Given the description of an element on the screen output the (x, y) to click on. 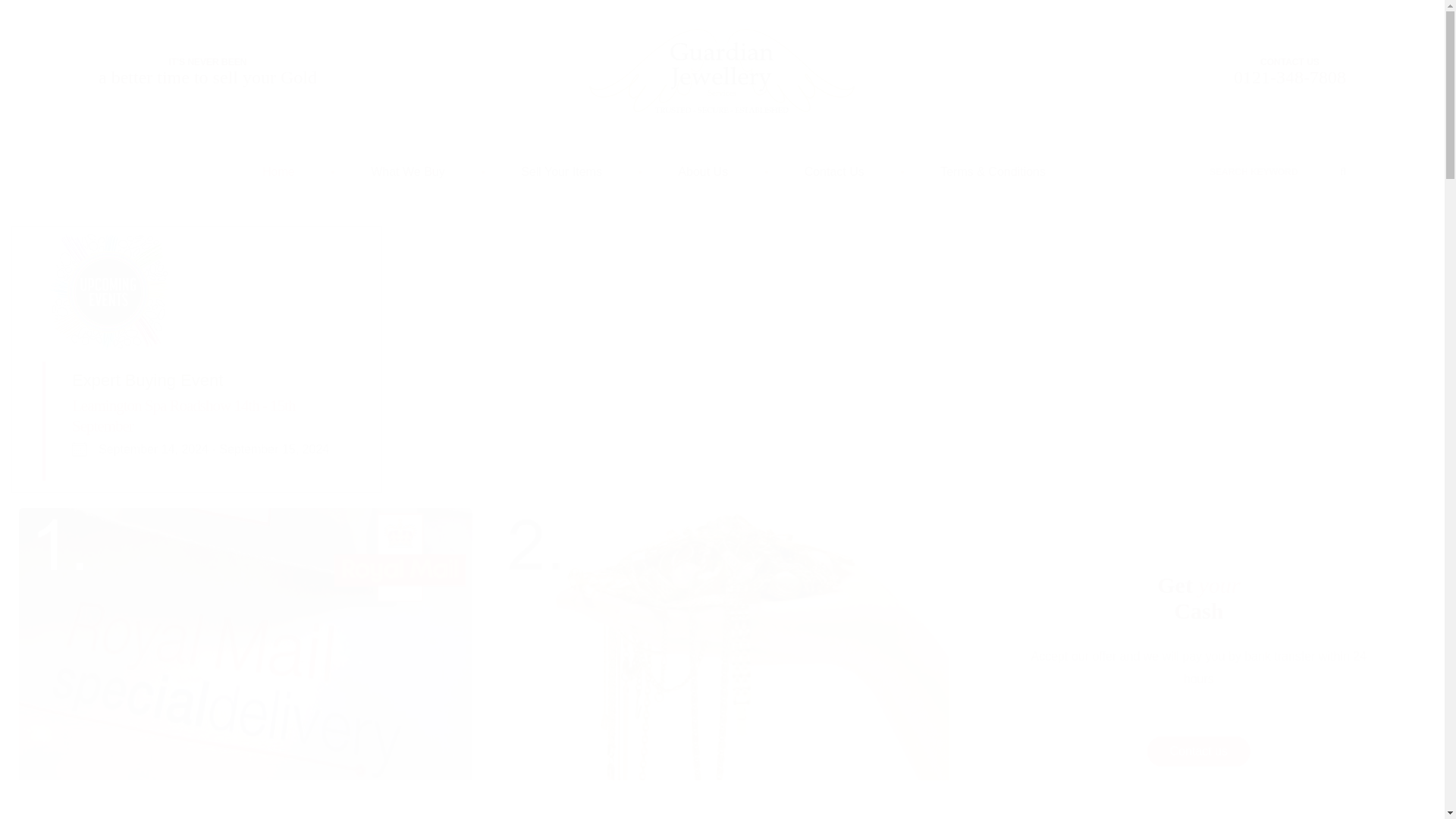
Contact Us (834, 171)
Search for: (1277, 171)
Contact us (1198, 751)
Sell Your Items (1198, 598)
What We Buy (561, 171)
Leamington Spa Roadshow 14th - 15th September (408, 171)
CONTACT US (183, 415)
a better time to sell your Gold (1289, 61)
